Given the description of an element on the screen output the (x, y) to click on. 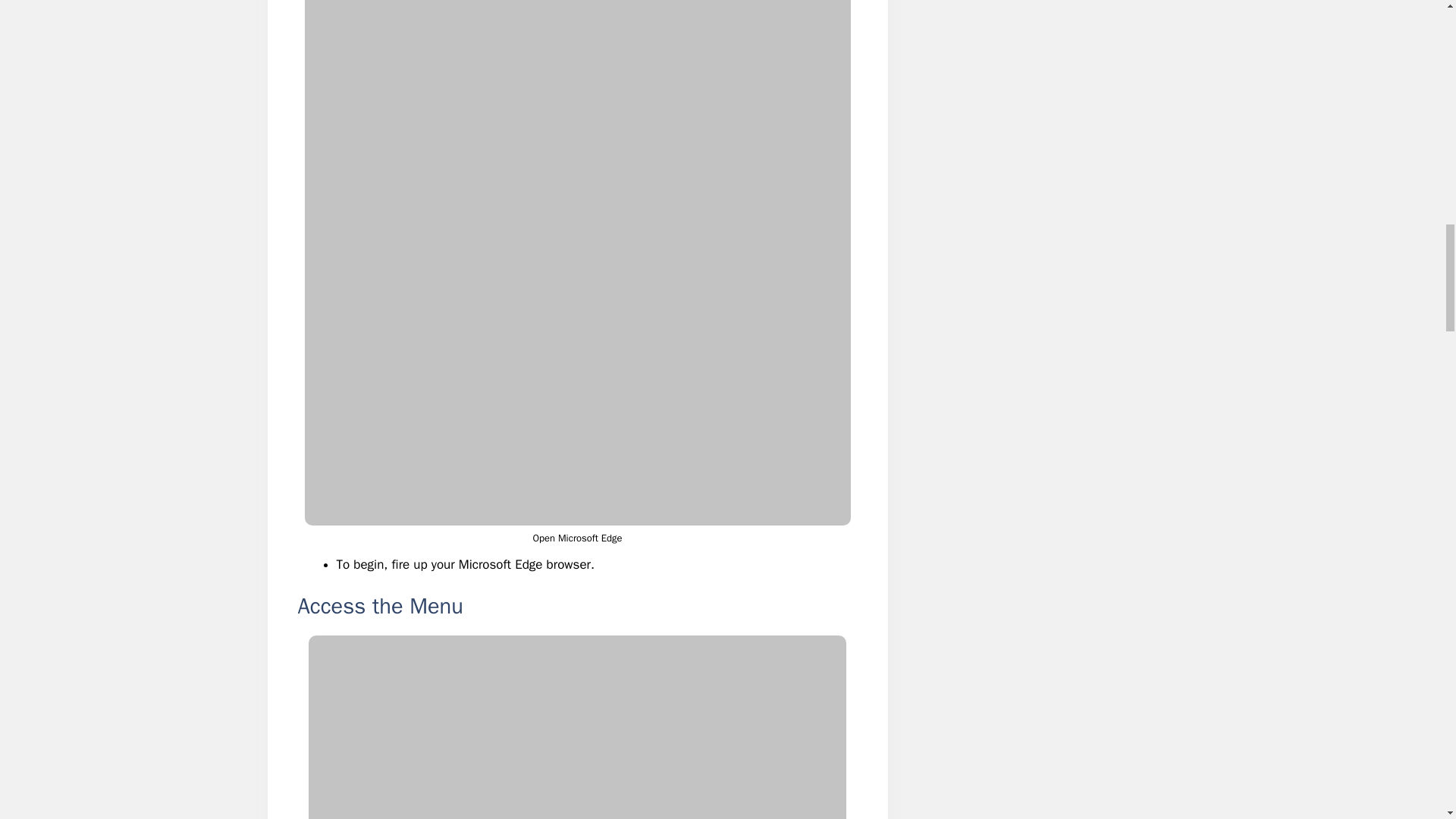
How to Enable "Ask Before Closing All Tabs" 3 (576, 727)
